Given the description of an element on the screen output the (x, y) to click on. 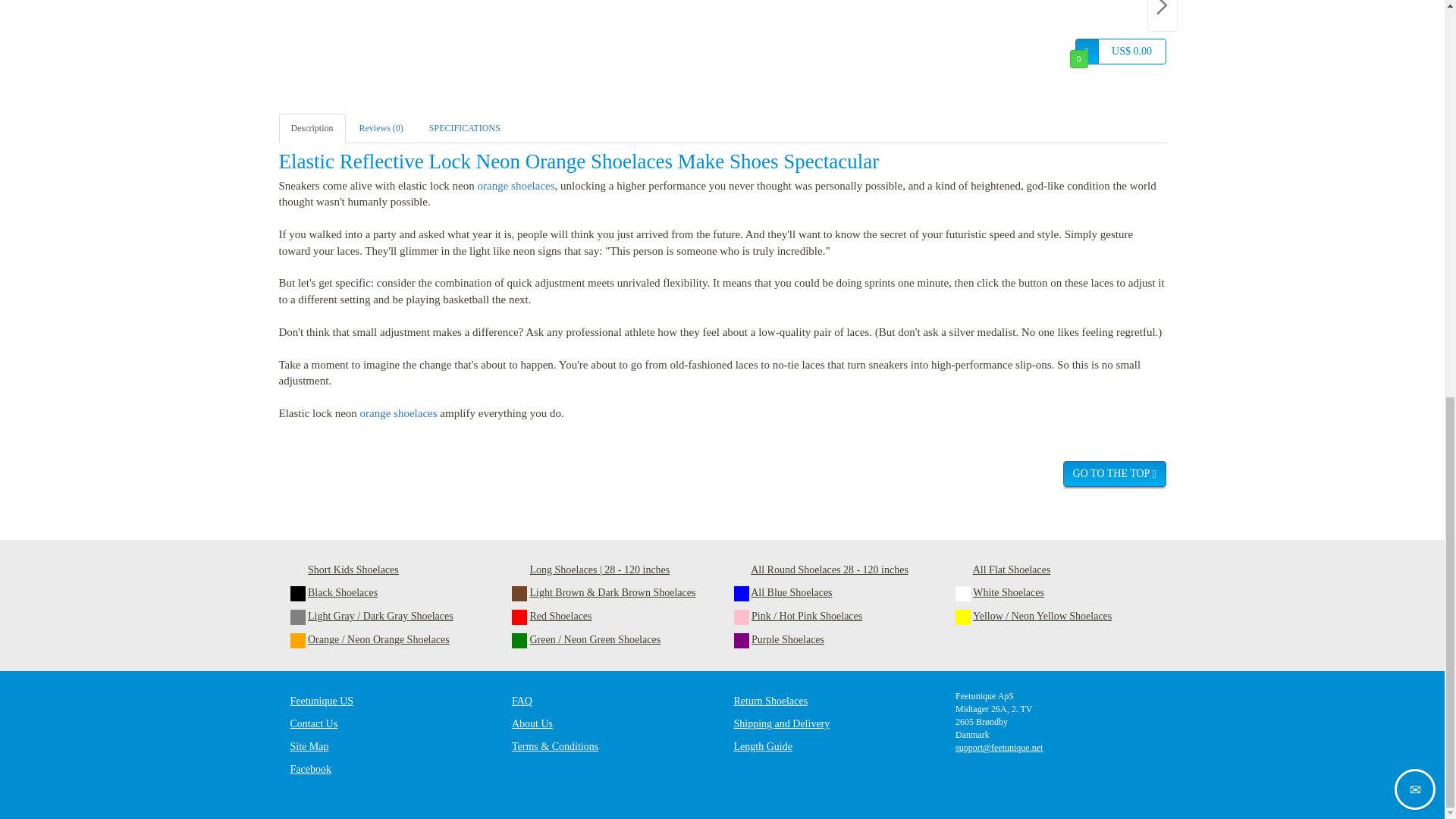
Elastic lock black shoelaces (335, 43)
Elastic lock white shoelaces (559, 43)
Reflective lock navy blue shoelaces (784, 43)
Reflective lock white shoelaces (671, 43)
Elastic lock blue shoelaces (896, 43)
Reflective lock black shoelaces (447, 43)
